Given the description of an element on the screen output the (x, y) to click on. 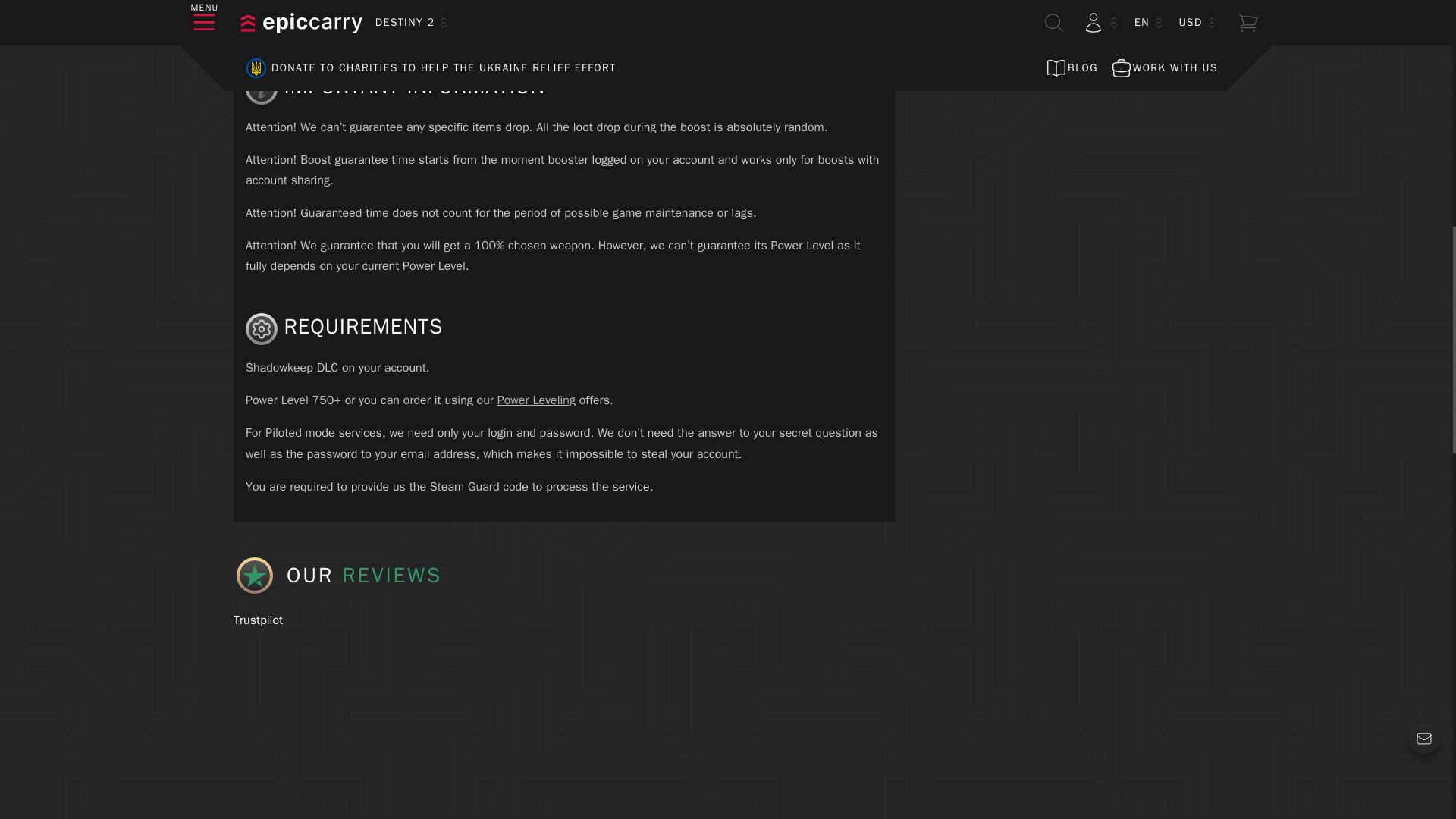
Trustpilot (257, 620)
Power Leveling (536, 400)
